Given the description of an element on the screen output the (x, y) to click on. 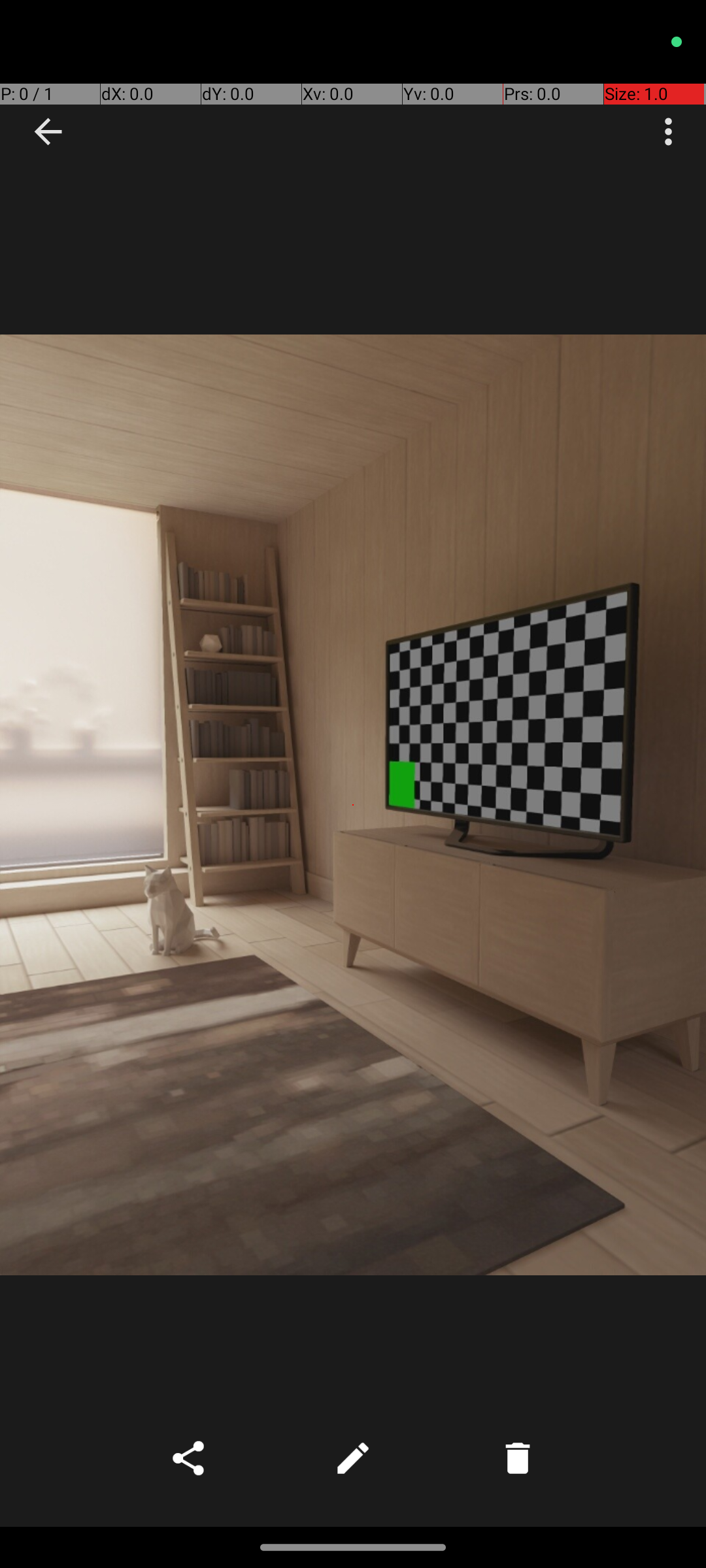
Photo taken on Oct 15, 2023 15:34:17 Element type: android.widget.ImageView (353, 804)
